Given the description of an element on the screen output the (x, y) to click on. 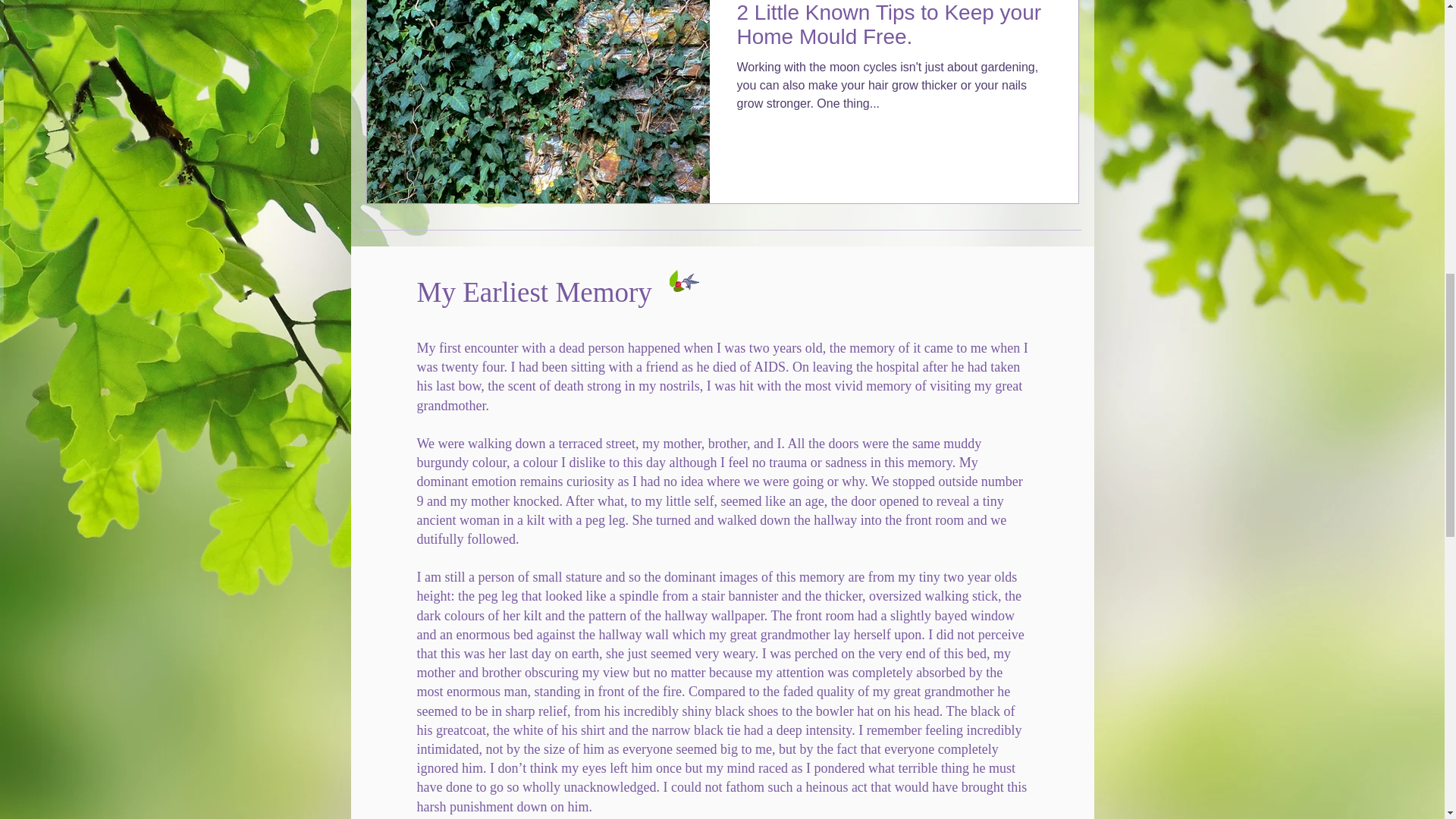
2 Little Known Tips to Keep your Home Mould Free. (893, 29)
